Given the description of an element on the screen output the (x, y) to click on. 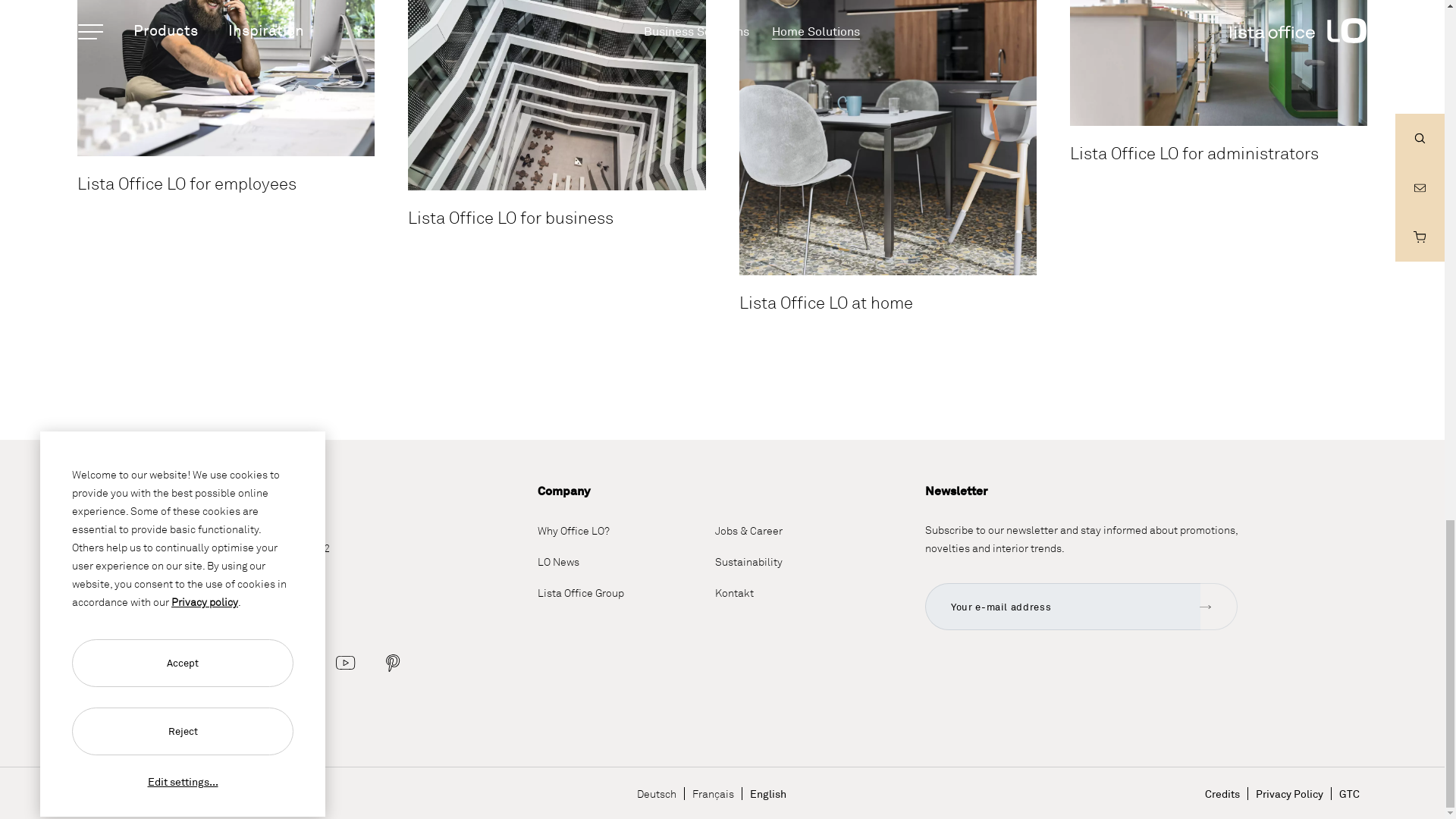
Lista Office LO for business (555, 95)
Lista Office LO for employees (225, 78)
Lista Office LO at home (886, 138)
Lista Office LO for administrators (1218, 63)
